Given the description of an element on the screen output the (x, y) to click on. 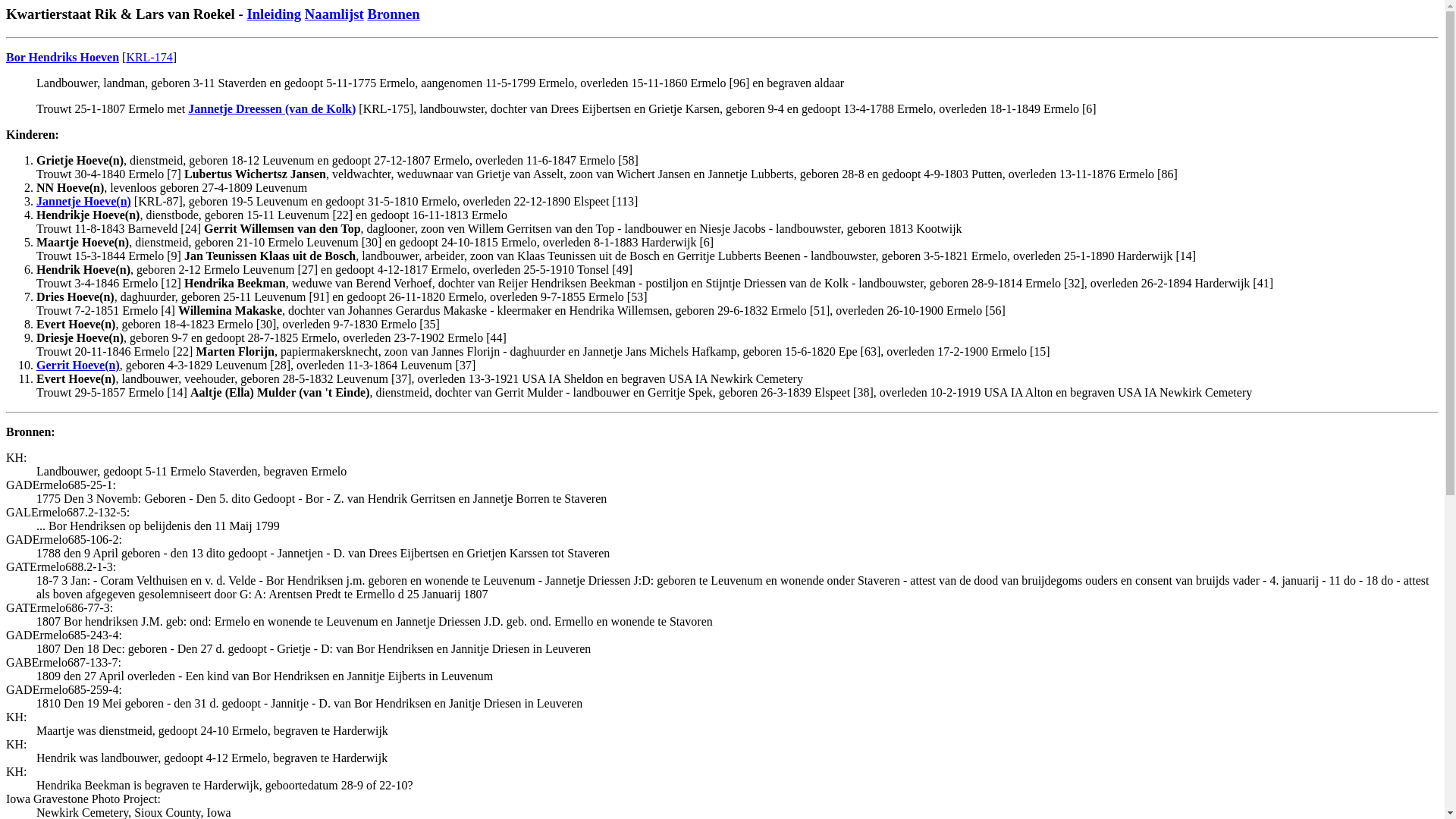
Bronnen (392, 13)
Naamlijst (334, 13)
Bor Hendriks Hoeven (62, 56)
KRL-174 (148, 56)
Inleiding (273, 13)
